Given the description of an element on the screen output the (x, y) to click on. 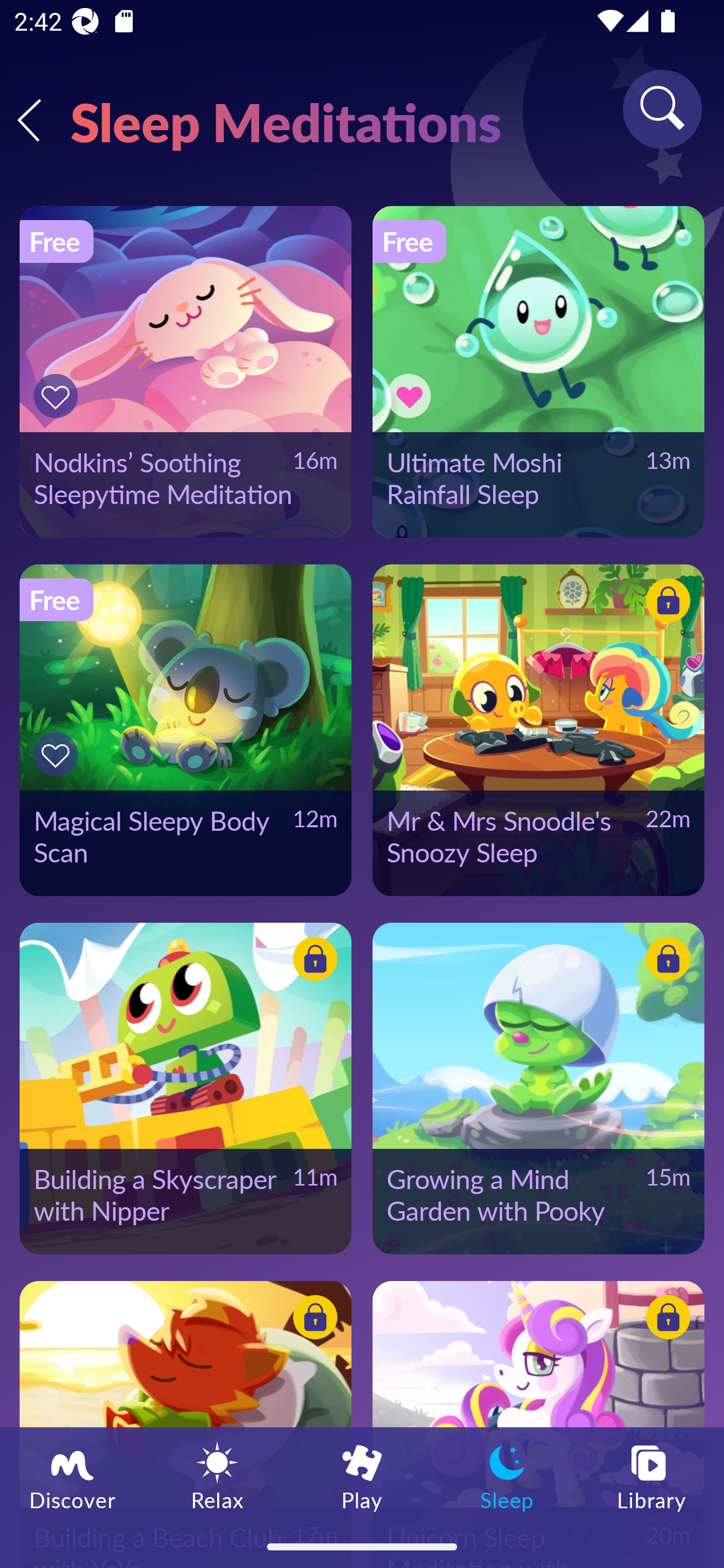
Button (58, 395)
Button (411, 395)
Button (665, 603)
Button (58, 753)
Button (311, 960)
Button (665, 960)
Button (311, 1320)
Button (665, 1320)
Discover (72, 1475)
Relax (216, 1475)
Play (361, 1475)
Library (651, 1475)
